Given the description of an element on the screen output the (x, y) to click on. 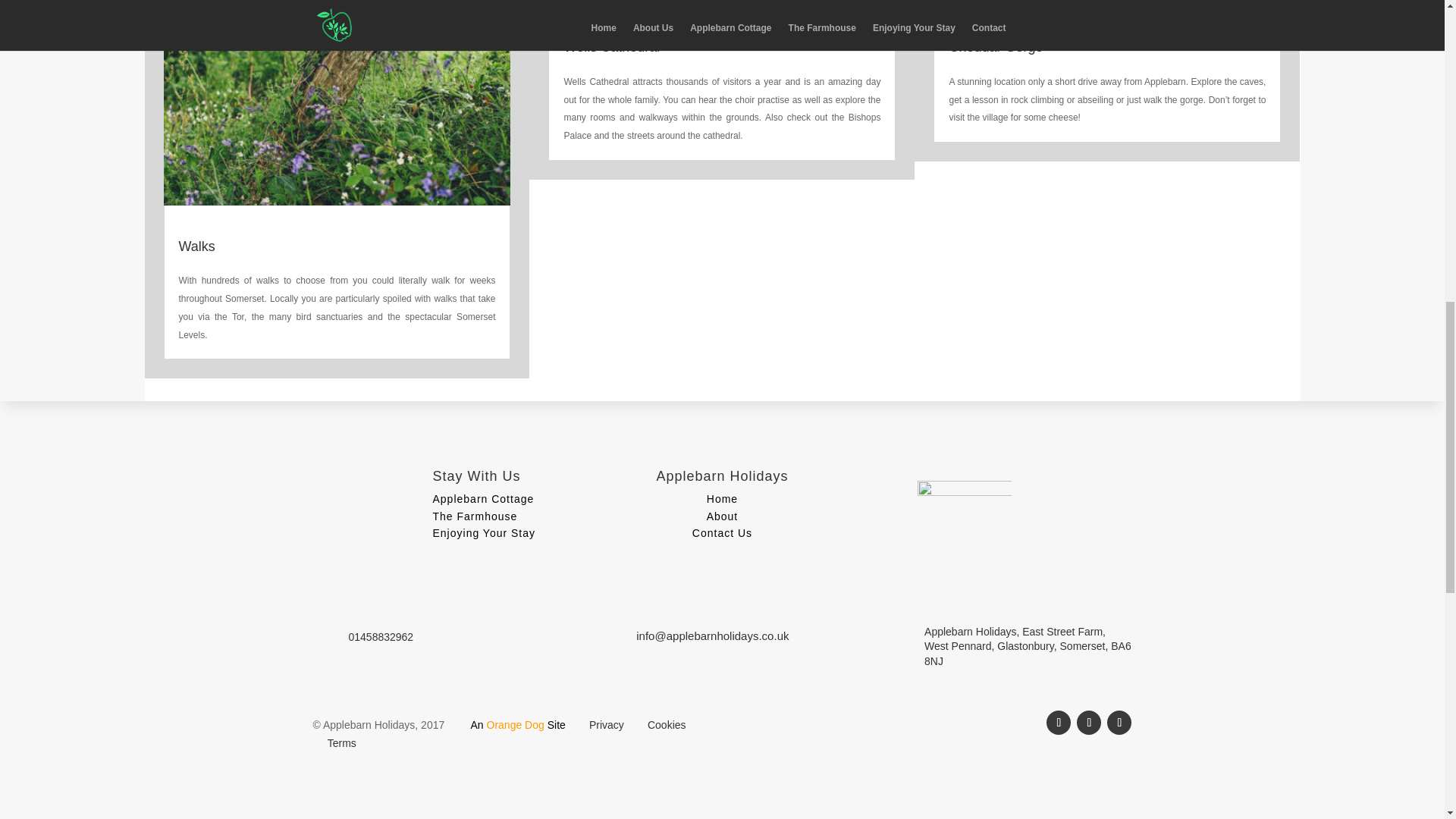
Wells Cathedral (611, 46)
Walks (197, 246)
The Farmhouse (474, 516)
Follow on Facebook (1058, 722)
Contact Us (722, 532)
Applebarn Cottage (483, 499)
Home (722, 499)
Privacy (606, 725)
Follow on Instagram (1118, 722)
Enjoying Your Stay (483, 532)
